Given the description of an element on the screen output the (x, y) to click on. 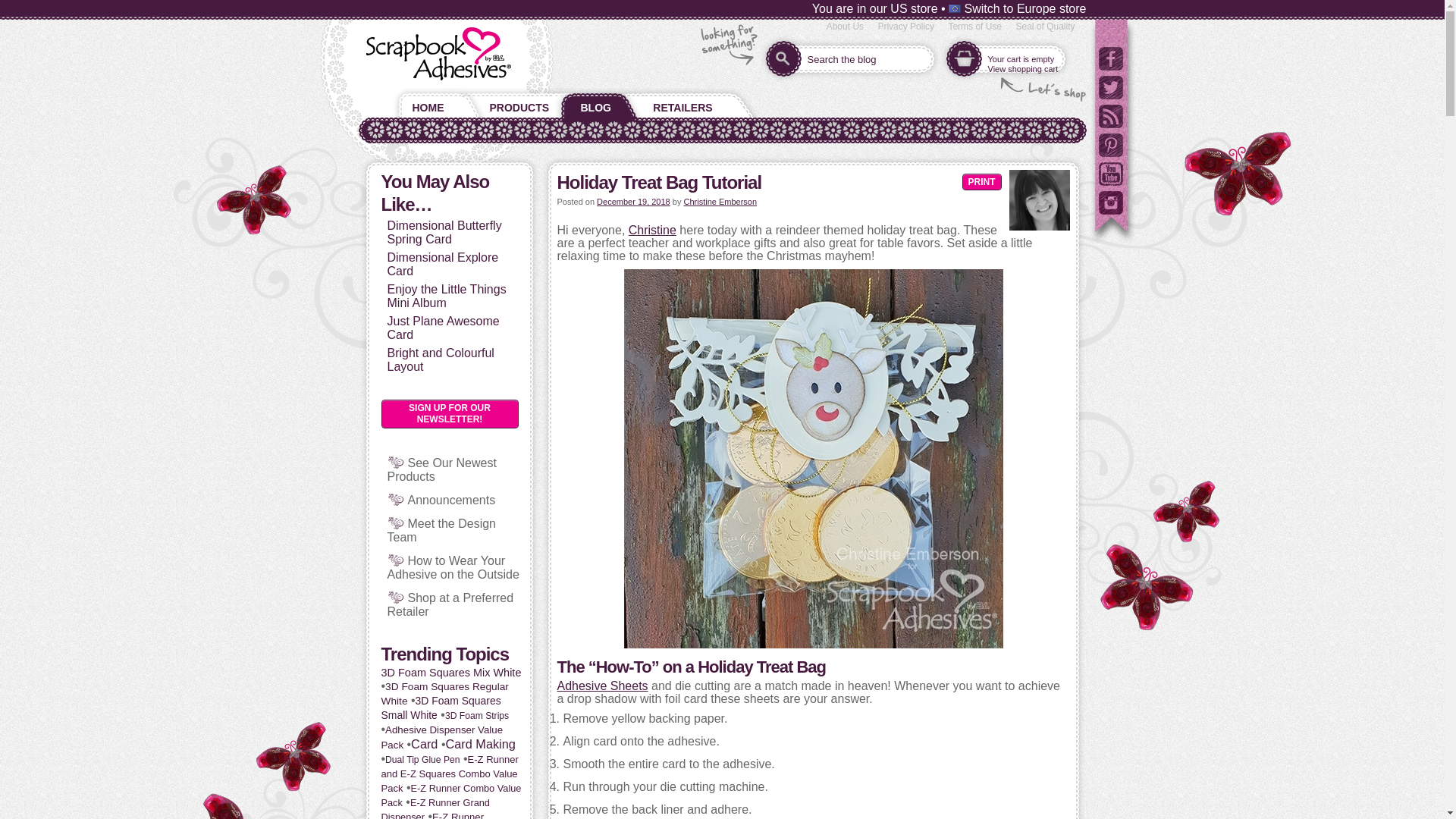
Privacy Policy (905, 26)
3D Foam Squares Small White (440, 707)
Dimensional Explore Card (442, 263)
Your cart is empty (1020, 58)
30 topics (441, 737)
26 topics (450, 795)
Switch to Europe store (1017, 8)
View shopping cart (1022, 68)
BLOG (594, 104)
RETAILERS (683, 104)
Dual Tip Glue Pen (422, 759)
35 topics (440, 707)
Announcements (451, 499)
26 topics (434, 807)
Dimensional Butterfly Spring Card (443, 232)
